Given the description of an element on the screen output the (x, y) to click on. 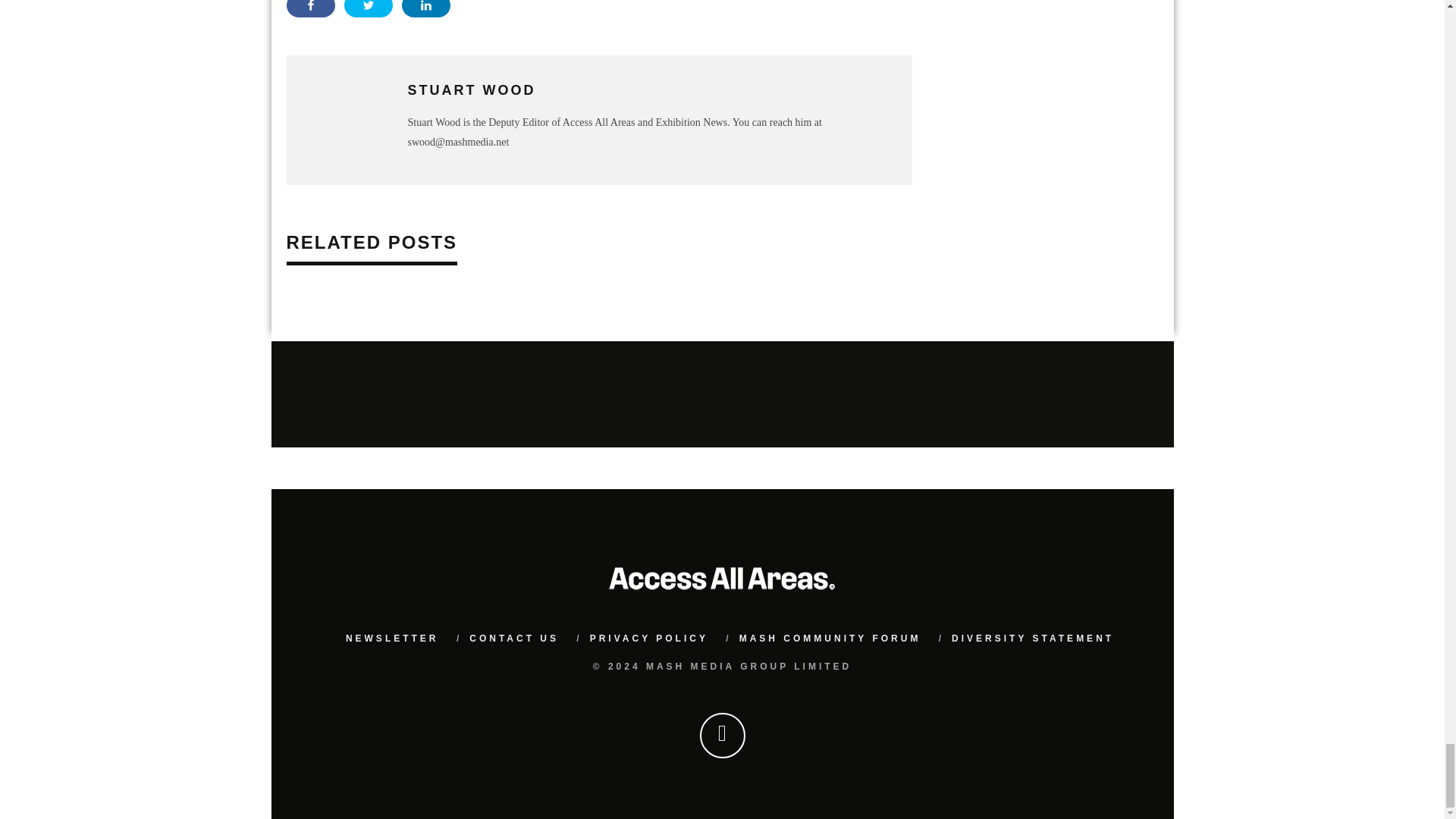
Share on LinkedIn (425, 8)
Share on Twitter (368, 8)
Share on Facebook (310, 8)
